Given the description of an element on the screen output the (x, y) to click on. 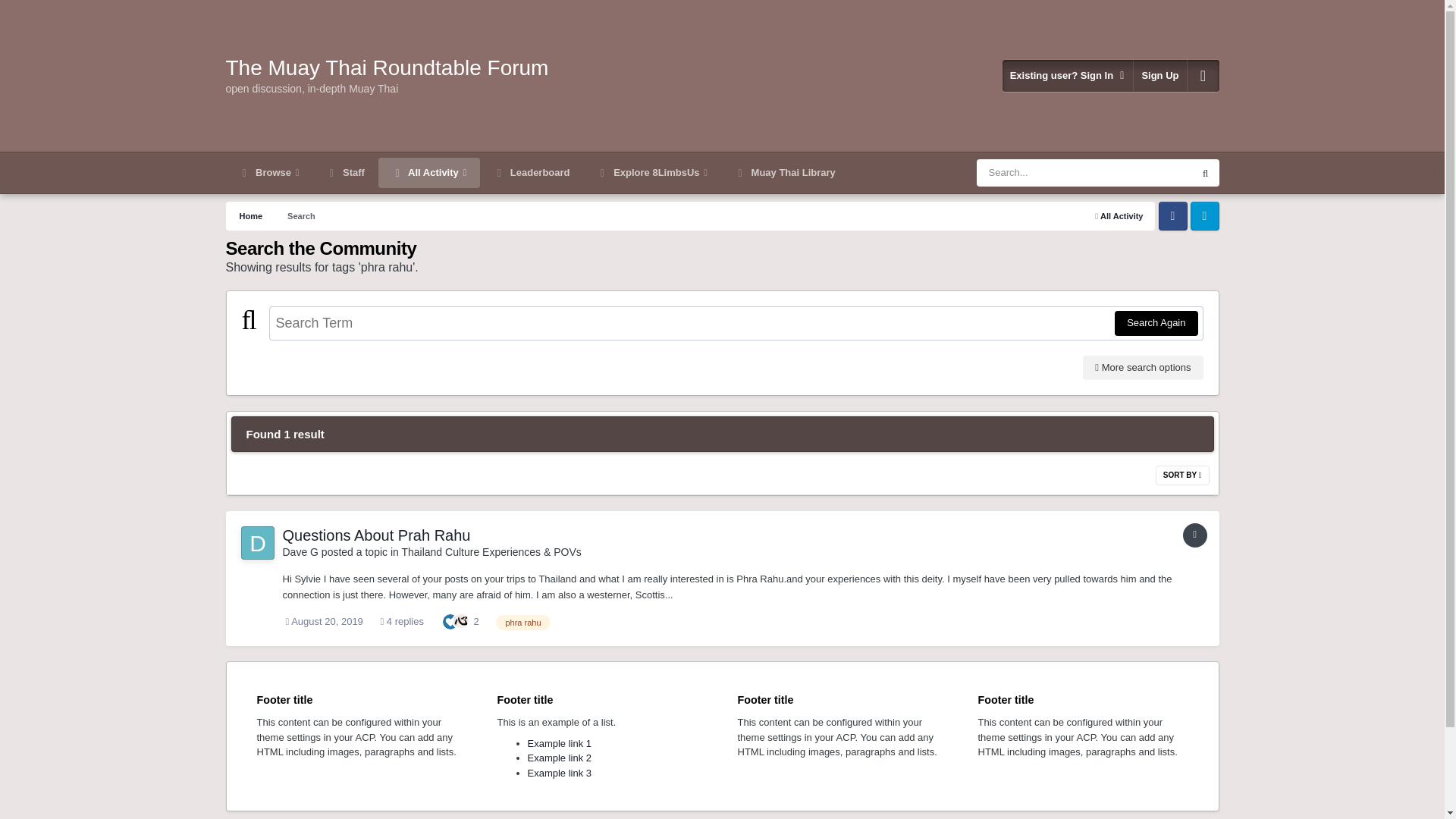
Go to Dave G's profile (299, 551)
Find other content tagged with 'phra rahu' (523, 622)
Existing user? Sign In   (1068, 75)
Leaderboard (531, 173)
Heart (460, 620)
All Activity (429, 173)
Browse (269, 173)
Go to Dave G's profile (258, 542)
Like (450, 621)
Topic (1194, 535)
Staff (345, 173)
Home (250, 215)
Sign Up (1160, 75)
Customizer (1204, 75)
